Given the description of an element on the screen output the (x, y) to click on. 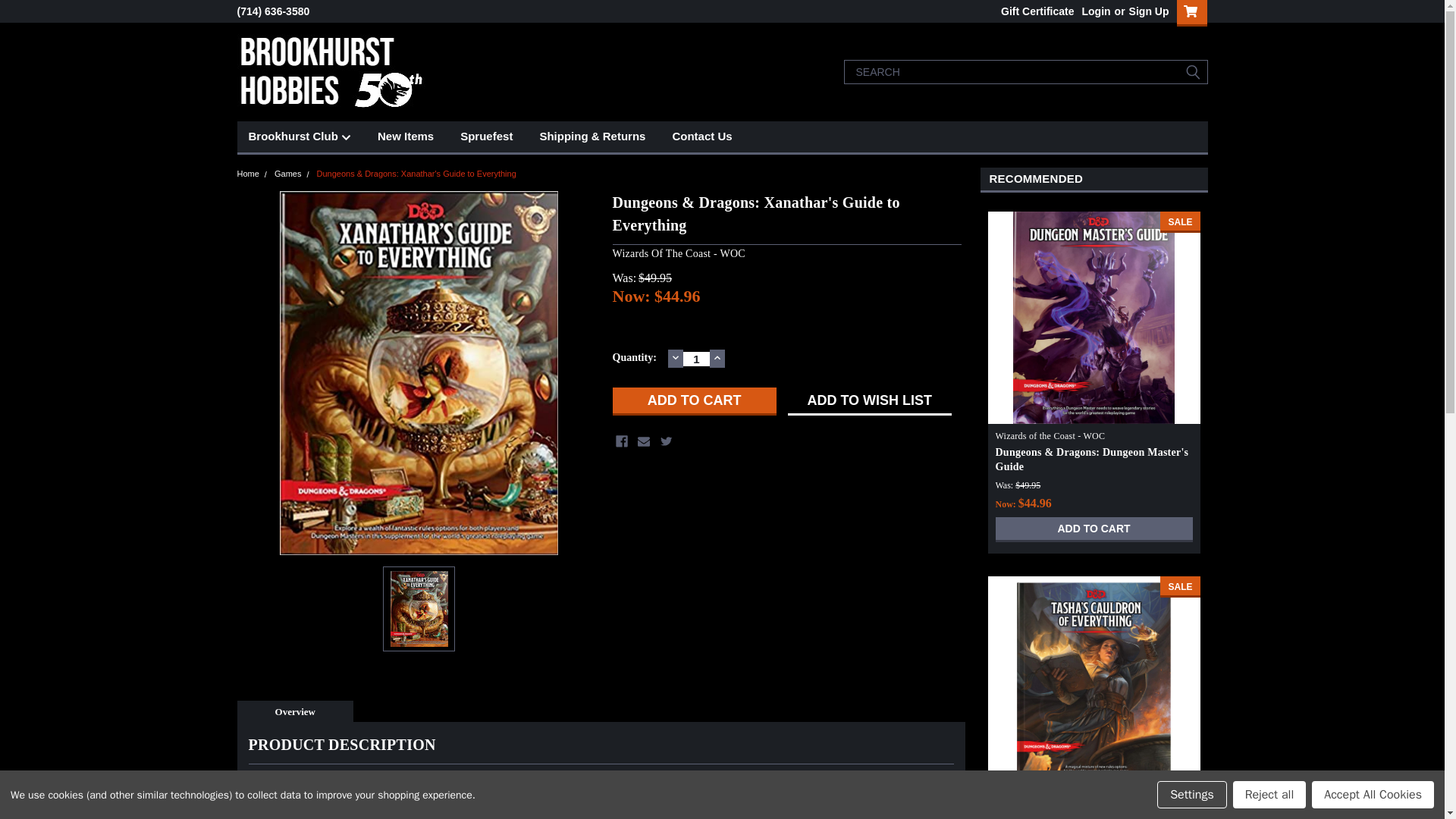
Sign Up (1147, 11)
submit (1192, 71)
Add to Cart (694, 401)
Facebook (621, 440)
Email (643, 440)
Gift Certificate (1033, 11)
1 (696, 359)
Brookhurst Hobbies (330, 71)
Login (1095, 11)
Twitter (666, 440)
